Given the description of an element on the screen output the (x, y) to click on. 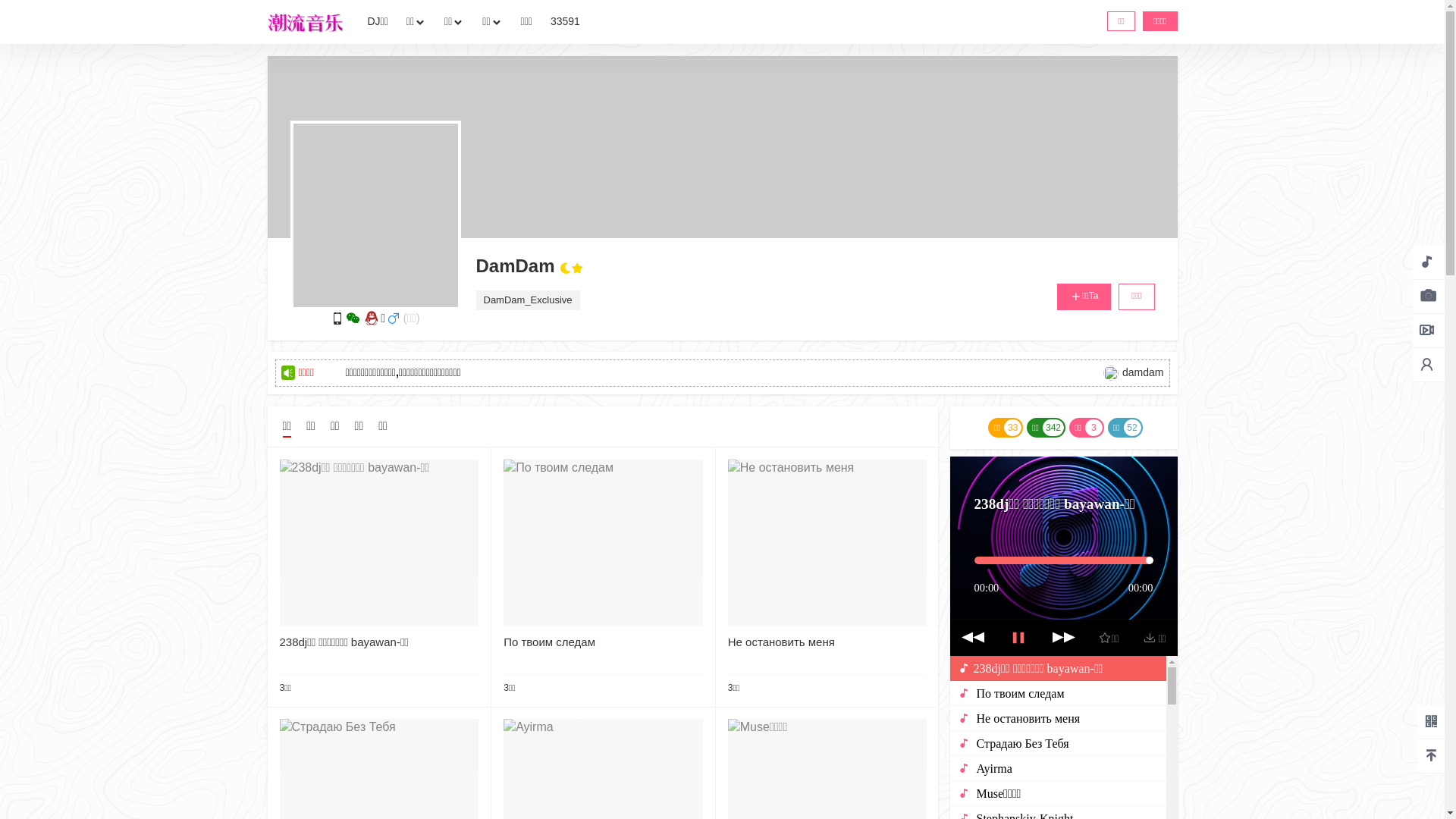
33591 Element type: text (565, 21)
